Given the description of an element on the screen output the (x, y) to click on. 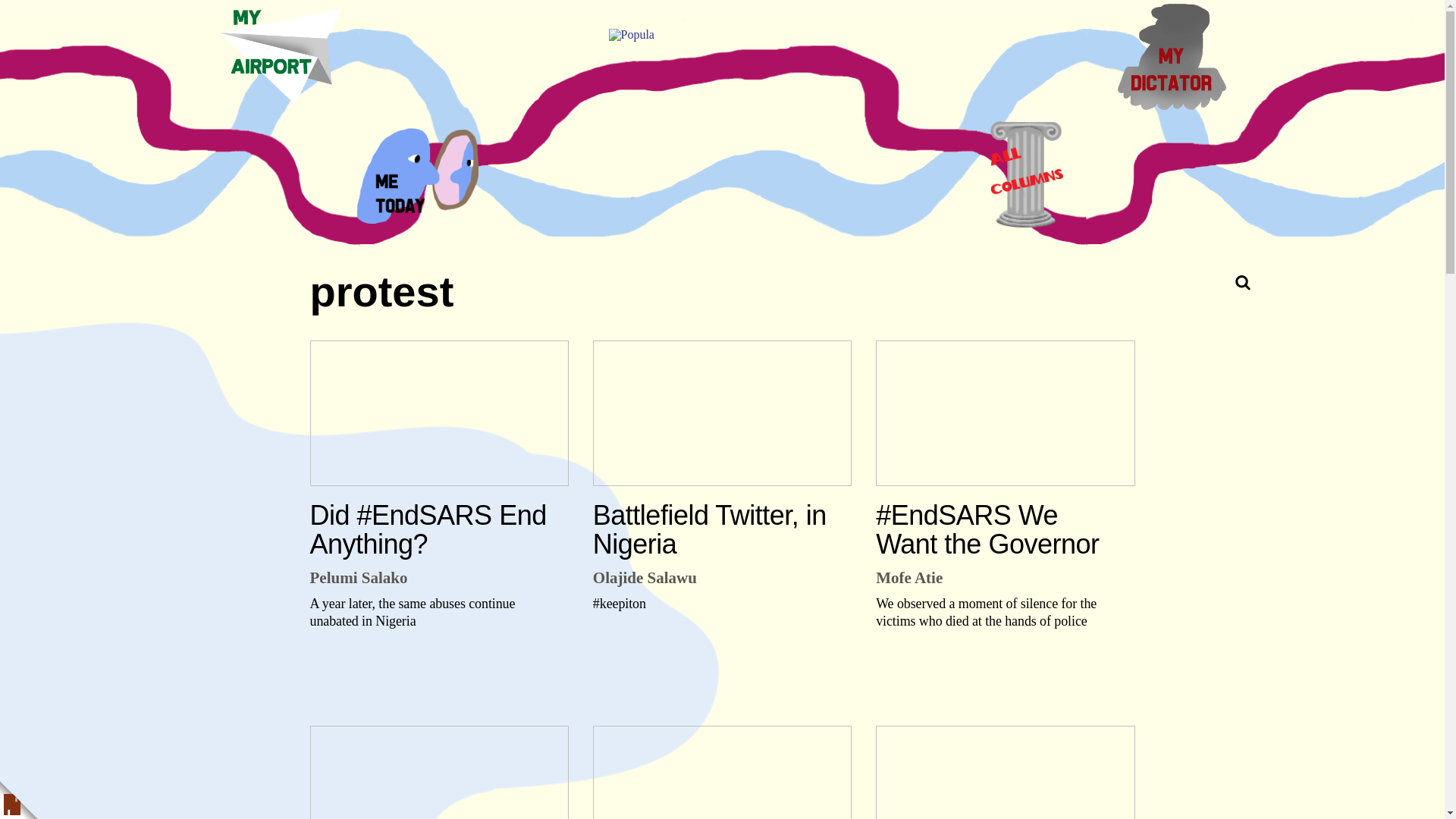
Battlefield Twitter, in Nigeria (716, 529)
Columns (1026, 174)
ME TODAY (417, 174)
Popula Film Club: Not the Evening News (437, 771)
My Airport (279, 56)
Pelumi Salako (357, 578)
Battlefield Twitter, in Nigeria (716, 529)
Popula Film Club: In Deep (1005, 771)
Battlefield Twitter, in Nigeria (721, 413)
Olajide Salawu (644, 578)
Search (1206, 282)
Mofe Atie (909, 578)
My Dictator (1172, 56)
